Given the description of an element on the screen output the (x, y) to click on. 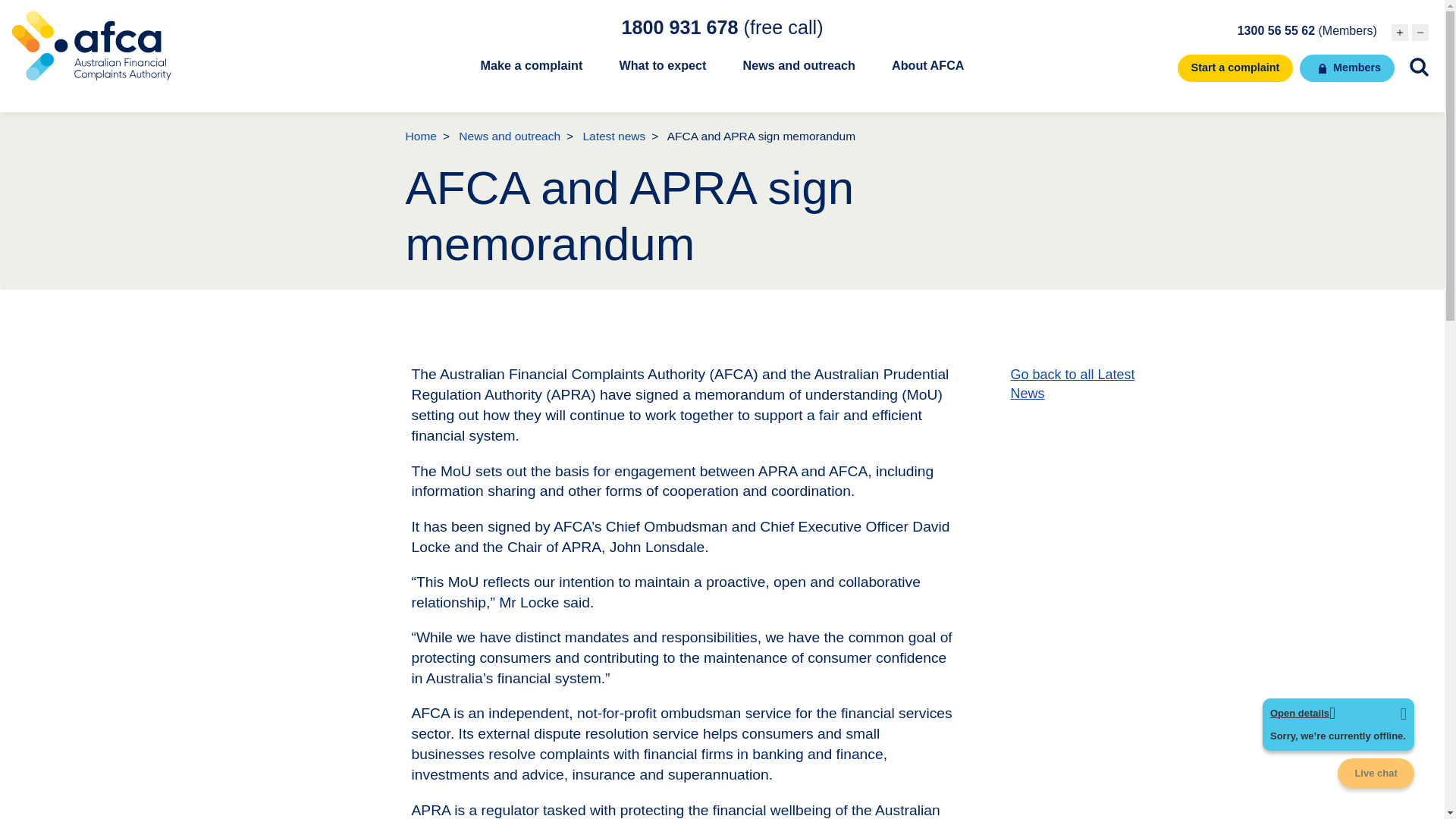
Skip to main content (721, 1)
If you are already a member, click here to call us (1307, 30)
What to expect (661, 74)
If you are not a member, click here to call us (721, 26)
Make a complaint (530, 74)
News and outreach (799, 74)
Website search (1418, 66)
